Given the description of an element on the screen output the (x, y) to click on. 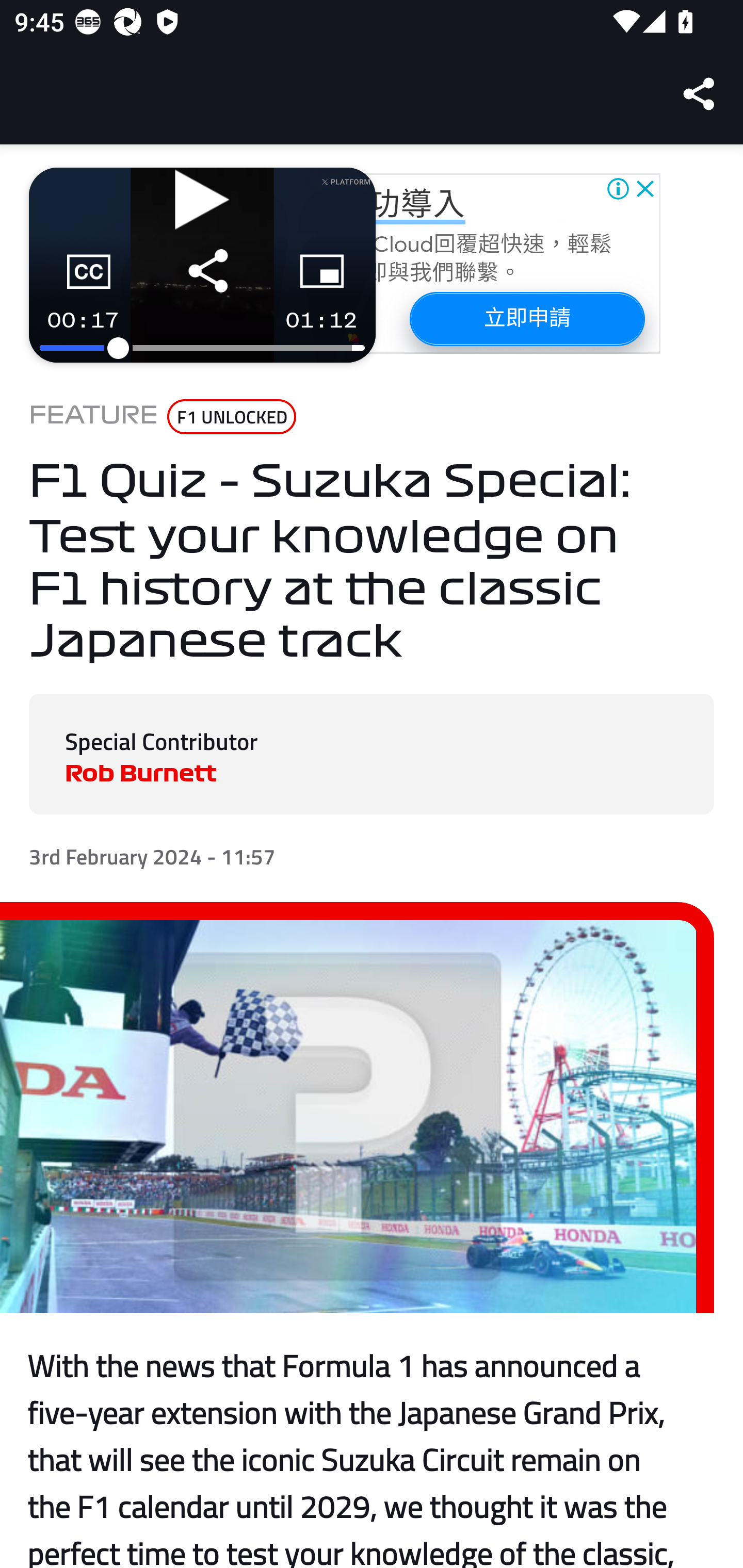
Share (699, 93)
立即申請 (526, 318)
